Given the description of an element on the screen output the (x, y) to click on. 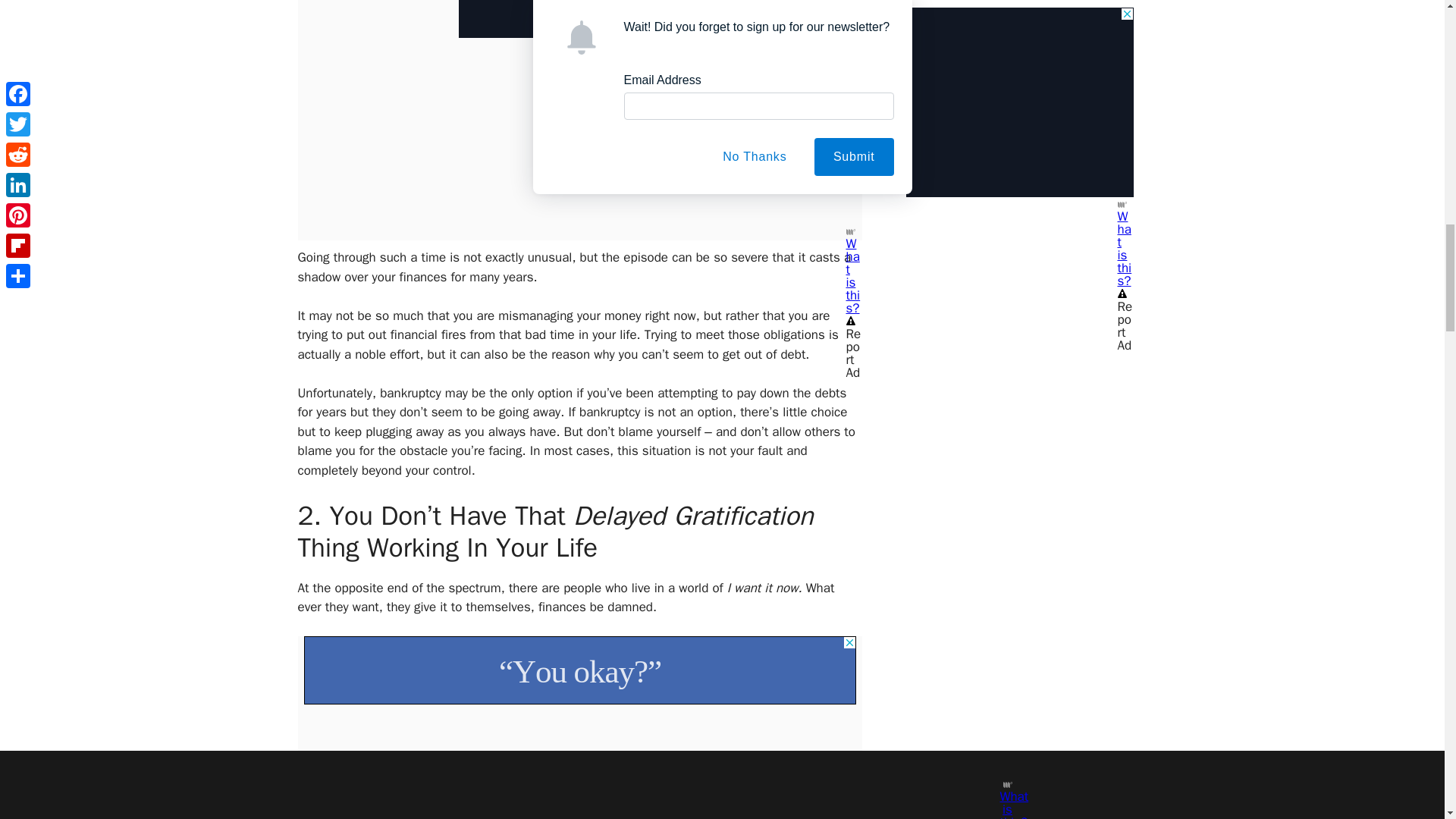
3rd party ad content (579, 670)
